Given the description of an element on the screen output the (x, y) to click on. 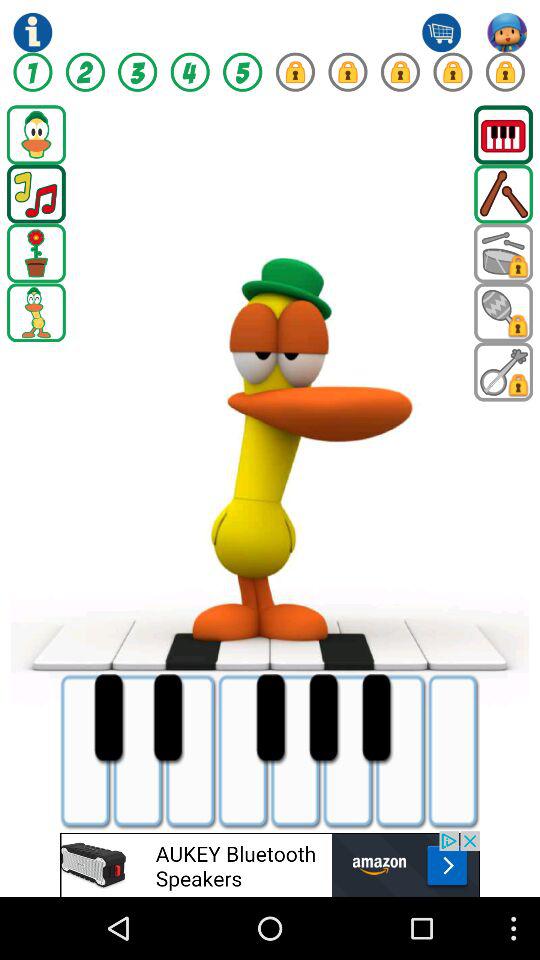
numbers symbol (32, 71)
